Given the description of an element on the screen output the (x, y) to click on. 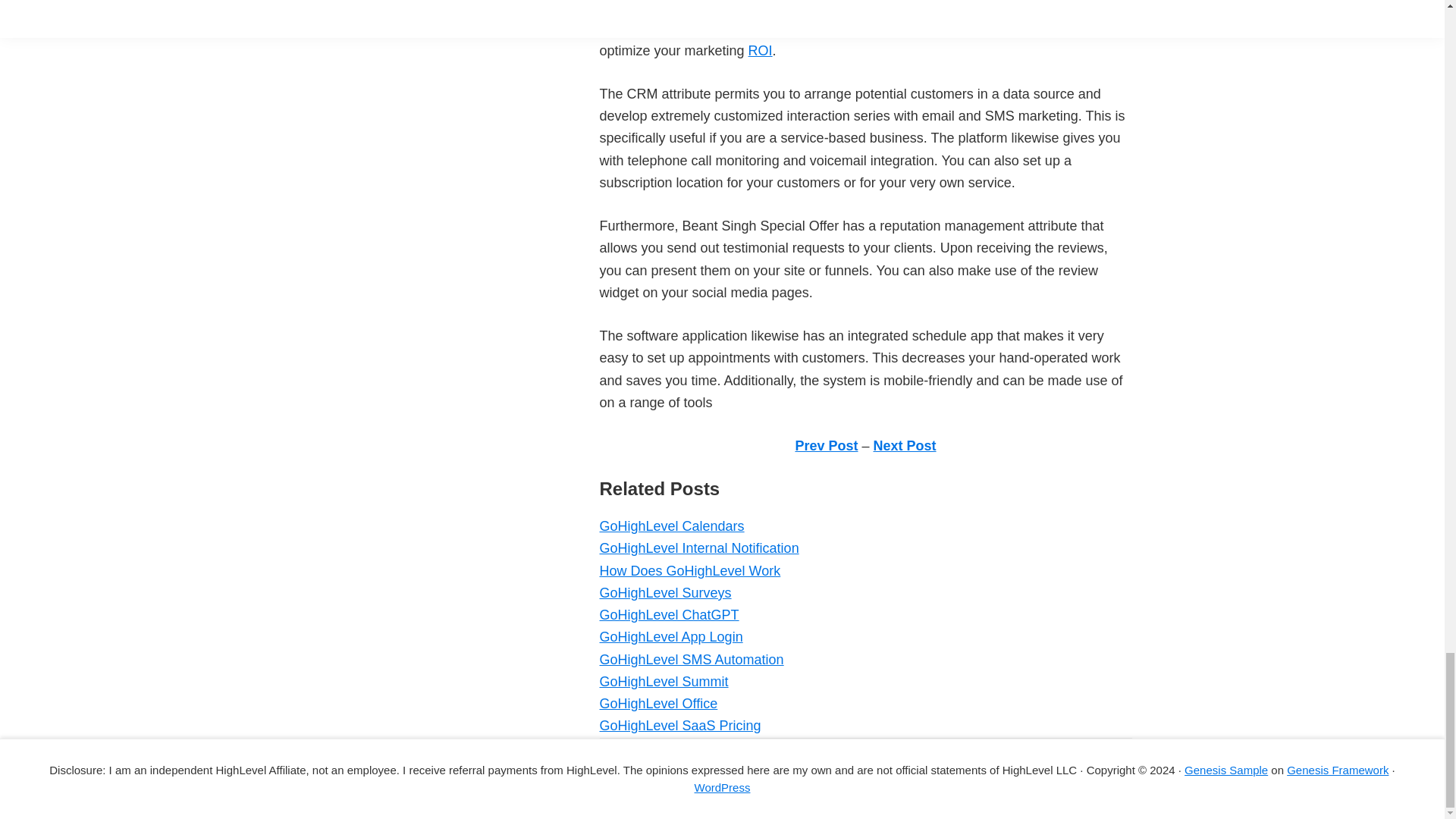
Next Post (904, 445)
GoHighLevel Surveys (664, 592)
How Does GoHighLevel Work (689, 570)
GoHighLevel Internal Notification (697, 548)
How Does GoHighLevel Work (689, 570)
GoHighLevel ChatGPT (668, 614)
GoHighLevel Summit (663, 681)
GoHighLevel App Login (670, 636)
GoHighLevel Office (657, 703)
GoHighLevel ChatGPT (668, 614)
